Given the description of an element on the screen output the (x, y) to click on. 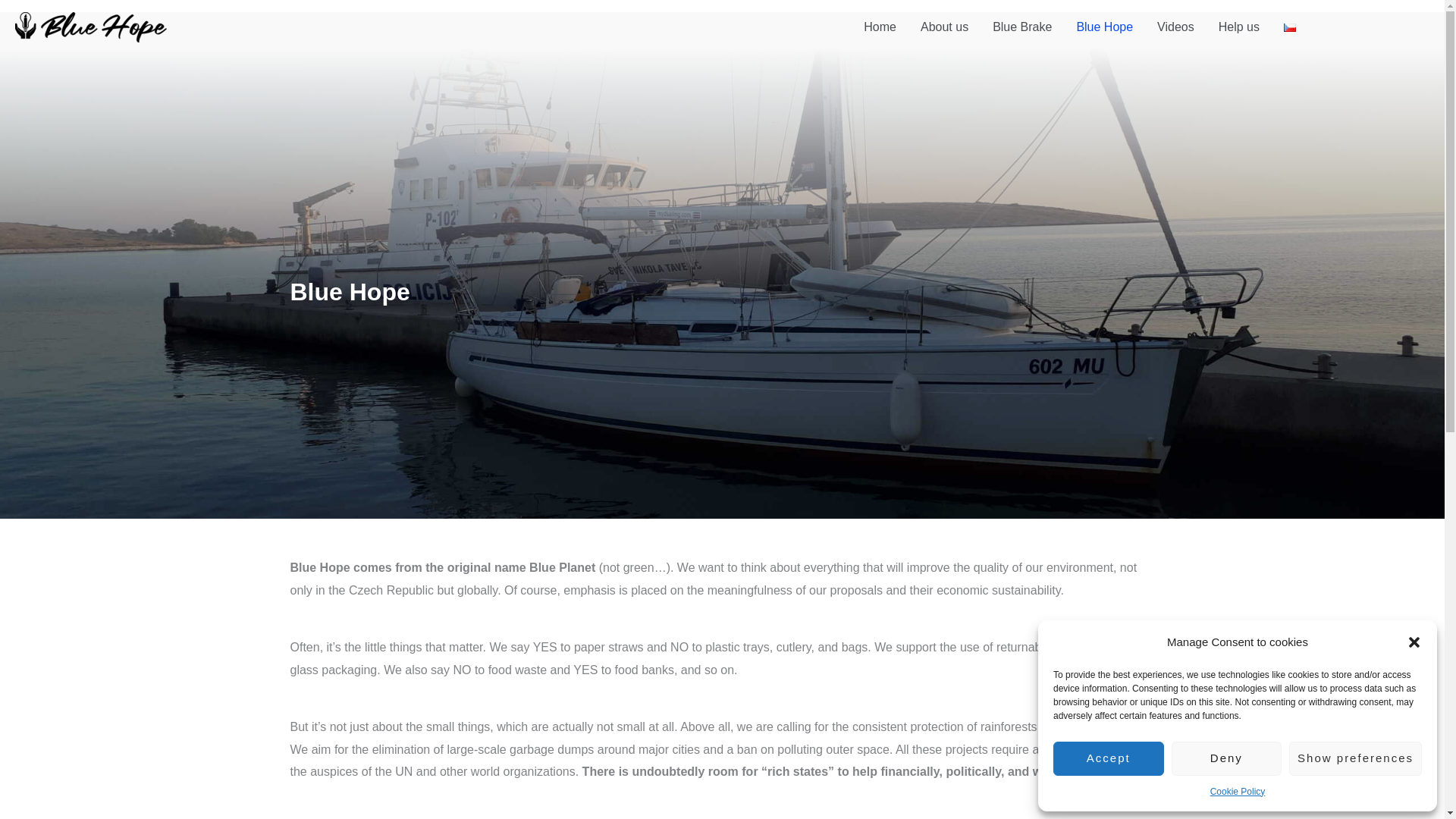
Videos (1175, 26)
Help us (1239, 26)
Home (879, 26)
About us (943, 26)
Accept (1107, 758)
Blue Hope (1104, 26)
Blue Brake (1021, 26)
Cookie Policy (1237, 791)
Deny (1227, 758)
Show preferences (1355, 758)
